Given the description of an element on the screen output the (x, y) to click on. 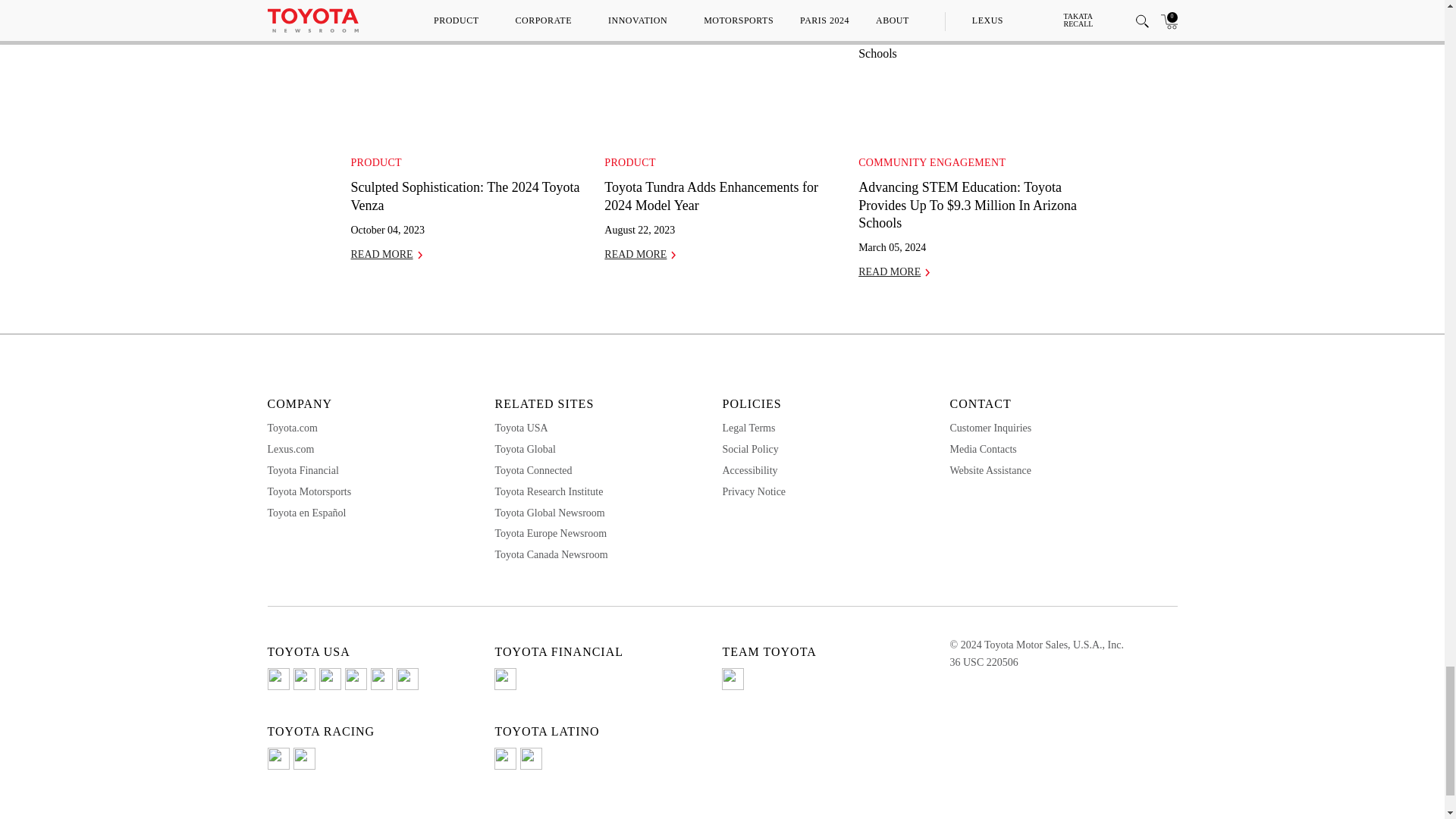
Product (629, 162)
Community Engagement (932, 162)
Product (375, 162)
